Given the description of an element on the screen output the (x, y) to click on. 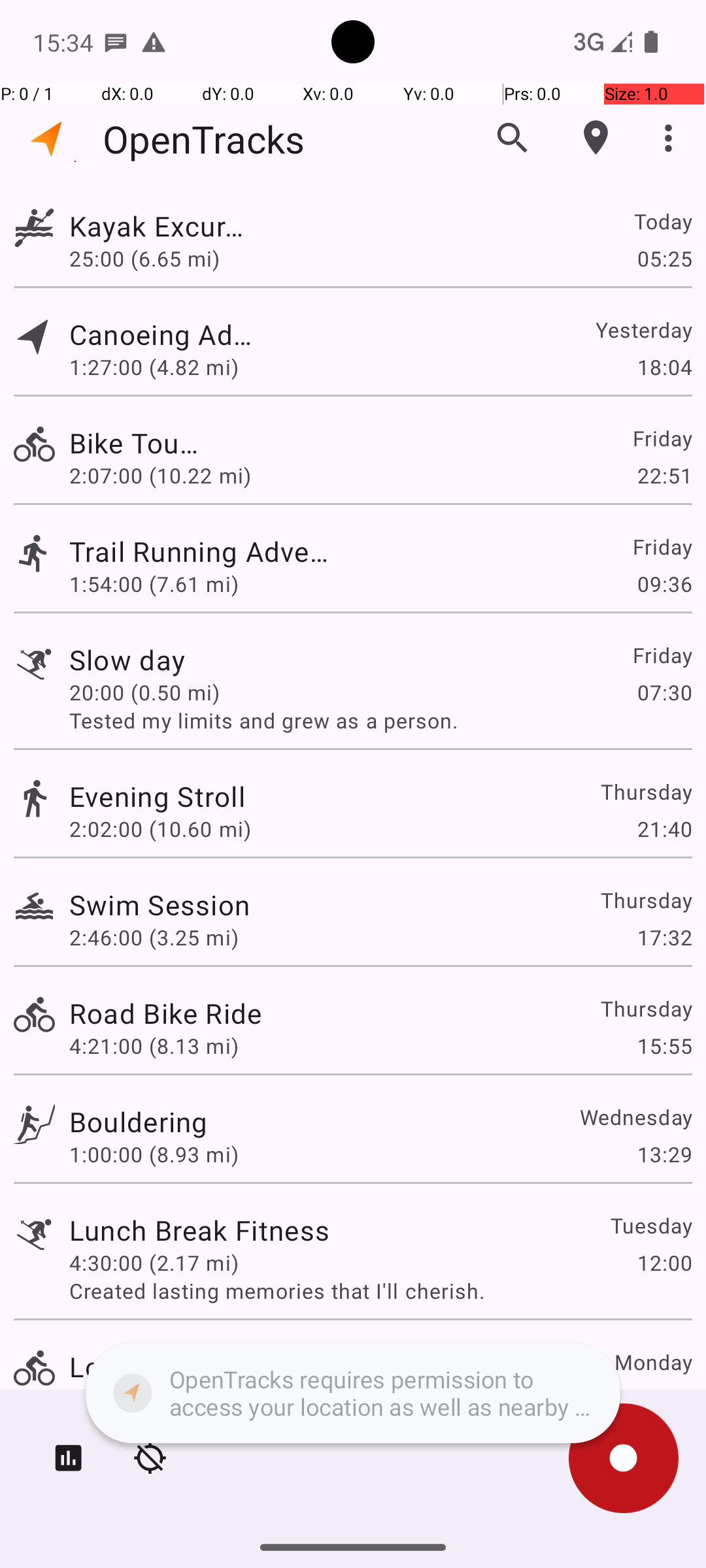
Kayak Excursion Element type: android.widget.TextView (159, 225)
25:00 (6.65 mi) Element type: android.widget.TextView (153, 258)
05:25 Element type: android.widget.TextView (664, 258)
Canoeing Adventure Element type: android.widget.TextView (165, 333)
1:27:00 (4.82 mi) Element type: android.widget.TextView (153, 366)
18:04 Element type: android.widget.TextView (664, 366)
Bike Touring Element type: android.widget.TextView (138, 442)
2:07:00 (10.22 mi) Element type: android.widget.TextView (159, 475)
22:51 Element type: android.widget.TextView (664, 475)
Trail Running Adventure Element type: android.widget.TextView (199, 550)
1:54:00 (7.61 mi) Element type: android.widget.TextView (153, 583)
09:36 Element type: android.widget.TextView (664, 583)
Slow day Element type: android.widget.TextView (193, 659)
20:00 (0.50 mi) Element type: android.widget.TextView (153, 692)
07:30 Element type: android.widget.TextView (664, 692)
Tested my limits and grew as a person. Element type: android.widget.TextView (380, 720)
Evening Stroll Element type: android.widget.TextView (156, 795)
2:02:00 (10.60 mi) Element type: android.widget.TextView (159, 828)
21:40 Element type: android.widget.TextView (664, 828)
Swim Session Element type: android.widget.TextView (159, 904)
2:46:00 (3.25 mi) Element type: android.widget.TextView (153, 937)
17:32 Element type: android.widget.TextView (664, 937)
Road Bike Ride Element type: android.widget.TextView (165, 1012)
4:21:00 (8.13 mi) Element type: android.widget.TextView (153, 1045)
15:55 Element type: android.widget.TextView (664, 1045)
Bouldering Element type: android.widget.TextView (138, 1121)
1:00:00 (8.93 mi) Element type: android.widget.TextView (153, 1154)
13:29 Element type: android.widget.TextView (664, 1154)
Lunch Break Fitness Element type: android.widget.TextView (199, 1229)
4:30:00 (2.17 mi) Element type: android.widget.TextView (153, 1262)
12:00 Element type: android.widget.TextView (664, 1262)
Created lasting memories that I'll cherish. Element type: android.widget.TextView (380, 1290)
Long Distance Ride Element type: android.widget.TextView (193, 1366)
1:03:00 (1.61 mi) Element type: android.widget.TextView (153, 1399)
06:26 Element type: android.widget.TextView (664, 1399)
